Given the description of an element on the screen output the (x, y) to click on. 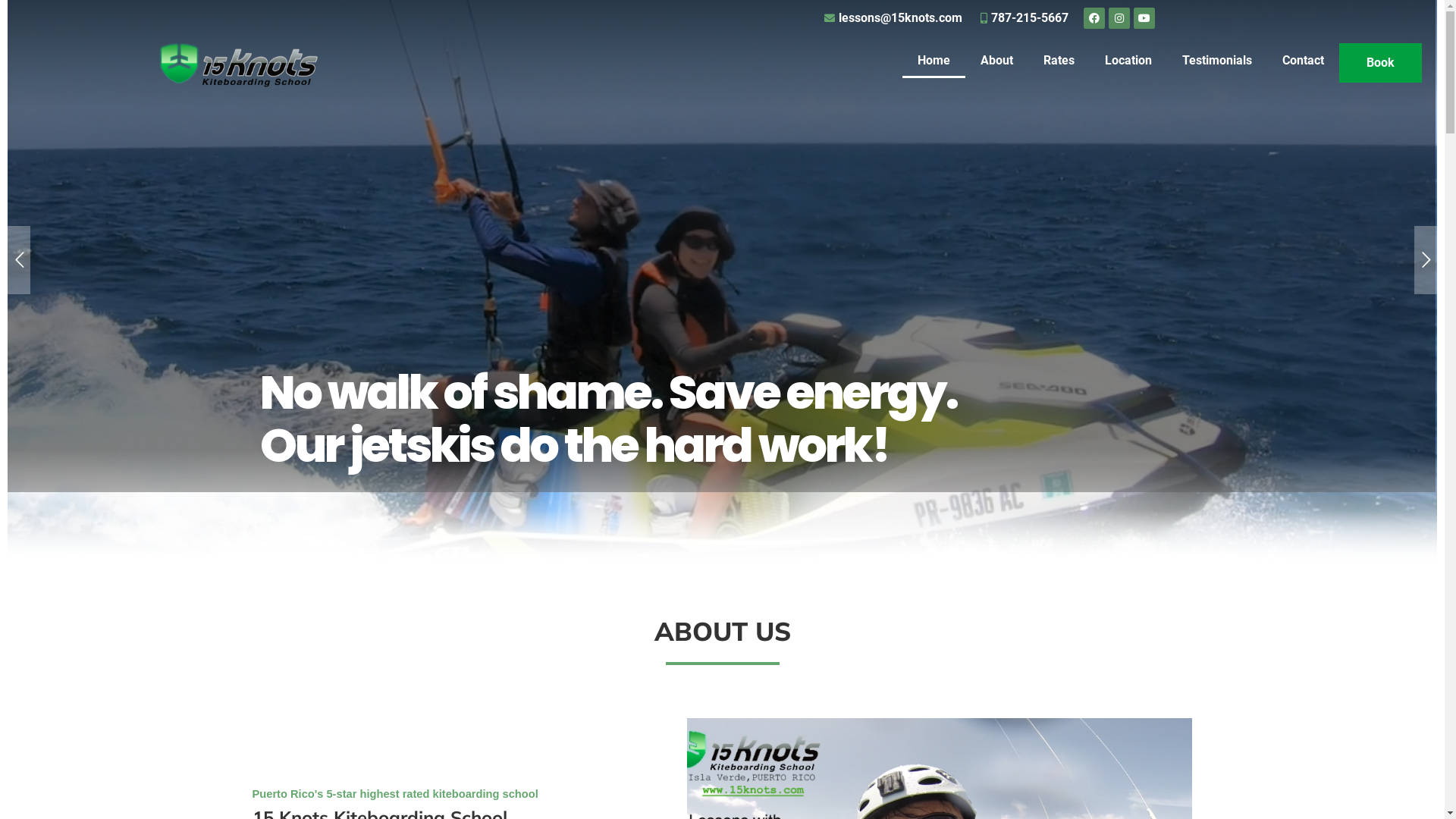
Rates Element type: text (1058, 60)
Book Element type: text (1380, 62)
Contact Element type: text (1303, 60)
Location Element type: text (1128, 60)
Testimonials Element type: text (1217, 60)
About Element type: text (996, 60)
Home Element type: text (933, 60)
